Given the description of an element on the screen output the (x, y) to click on. 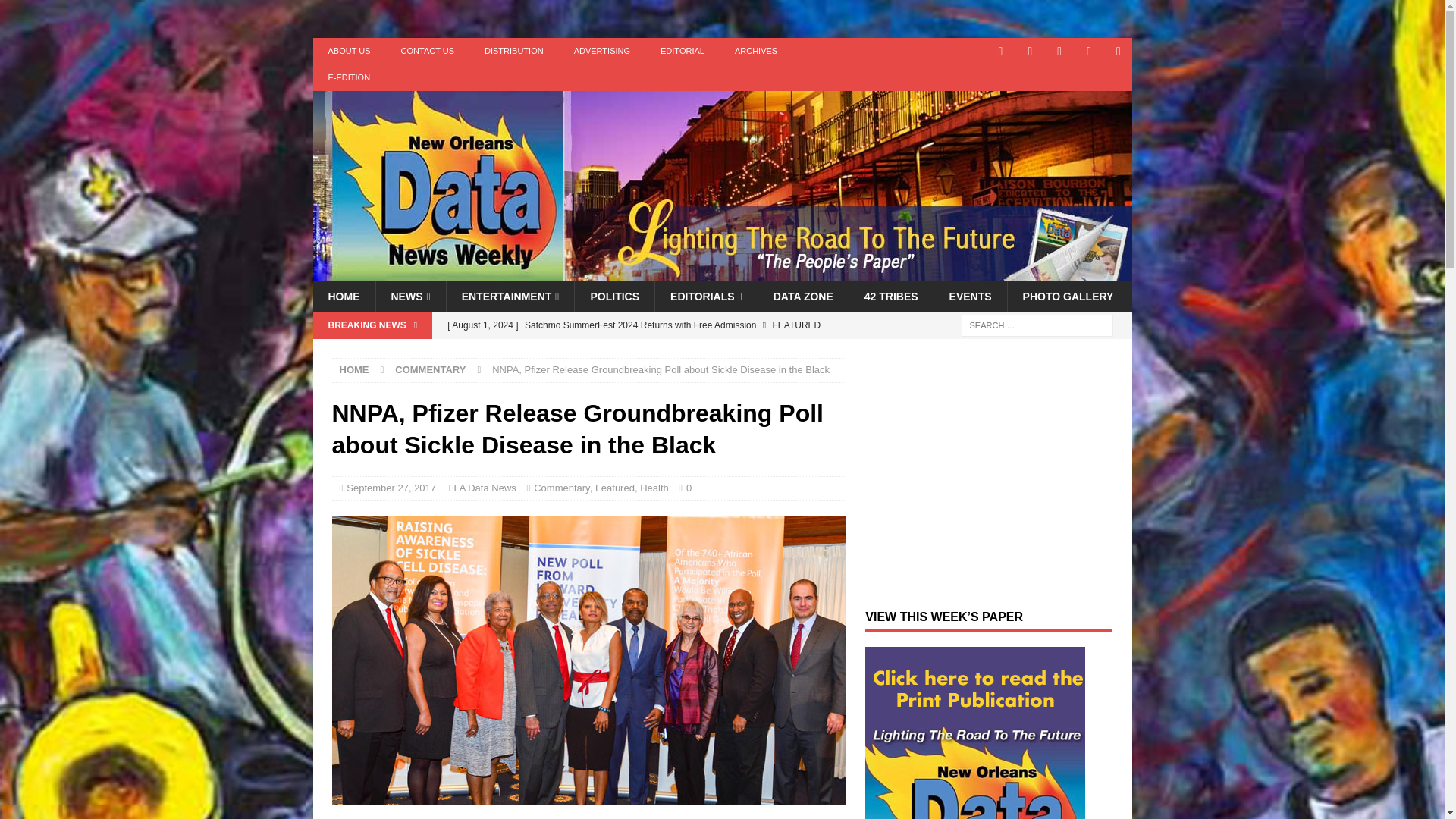
Satchmo SummerFest 2024 Returns with Free Admission (640, 325)
ADVERTISING (602, 50)
CONTACT US (427, 50)
New Orleans Data News Weekly (722, 272)
ARCHIVES (755, 50)
EDITORIAL (682, 50)
HOME (343, 296)
ABOUT US (349, 50)
DISTRIBUTION (513, 50)
E-EDITION (349, 77)
White Can Be Alright (640, 350)
